Given the description of an element on the screen output the (x, y) to click on. 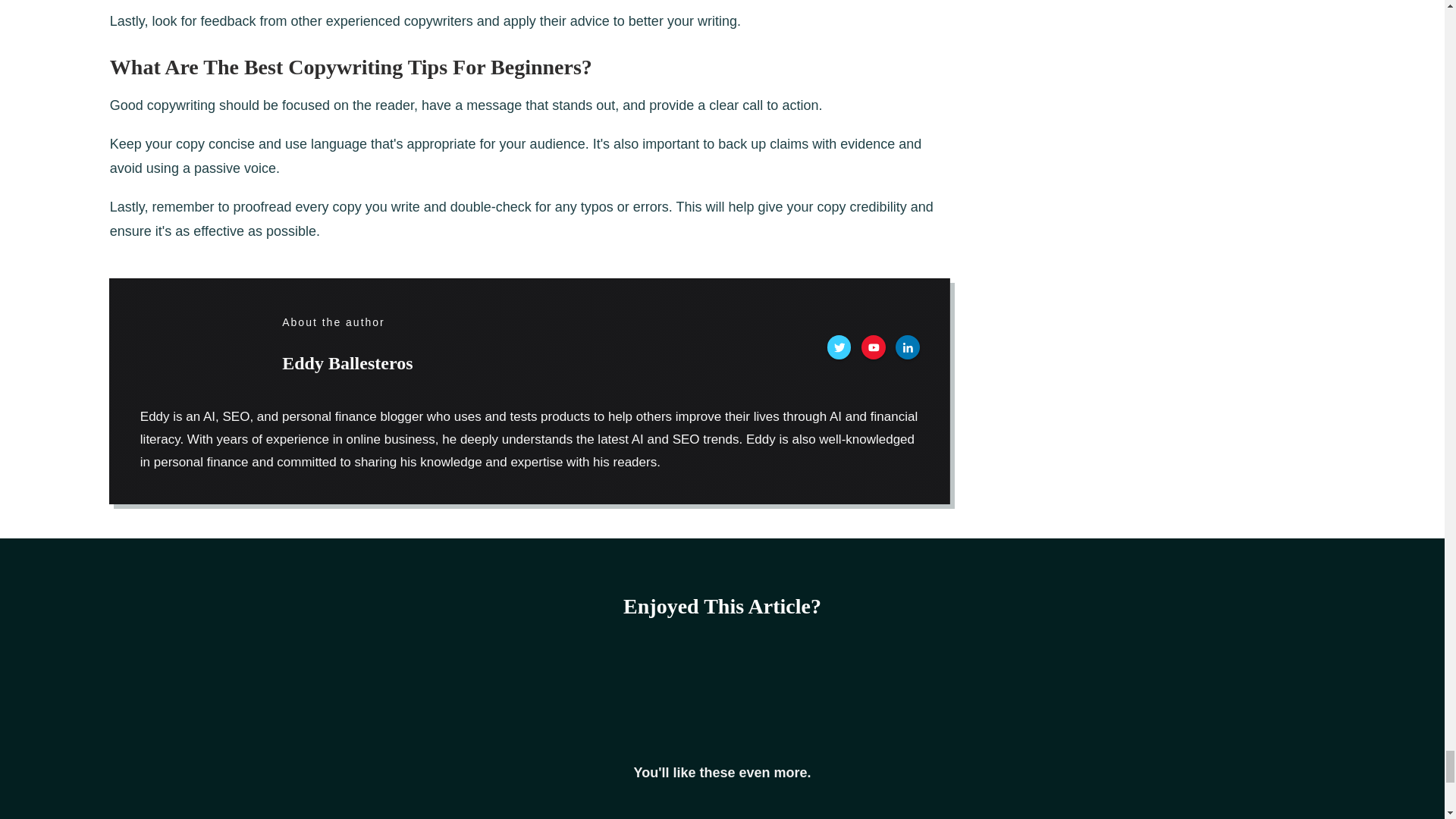
Eddy Balle Author Image Footer (176, 347)
Arrow (722, 690)
